Given the description of an element on the screen output the (x, y) to click on. 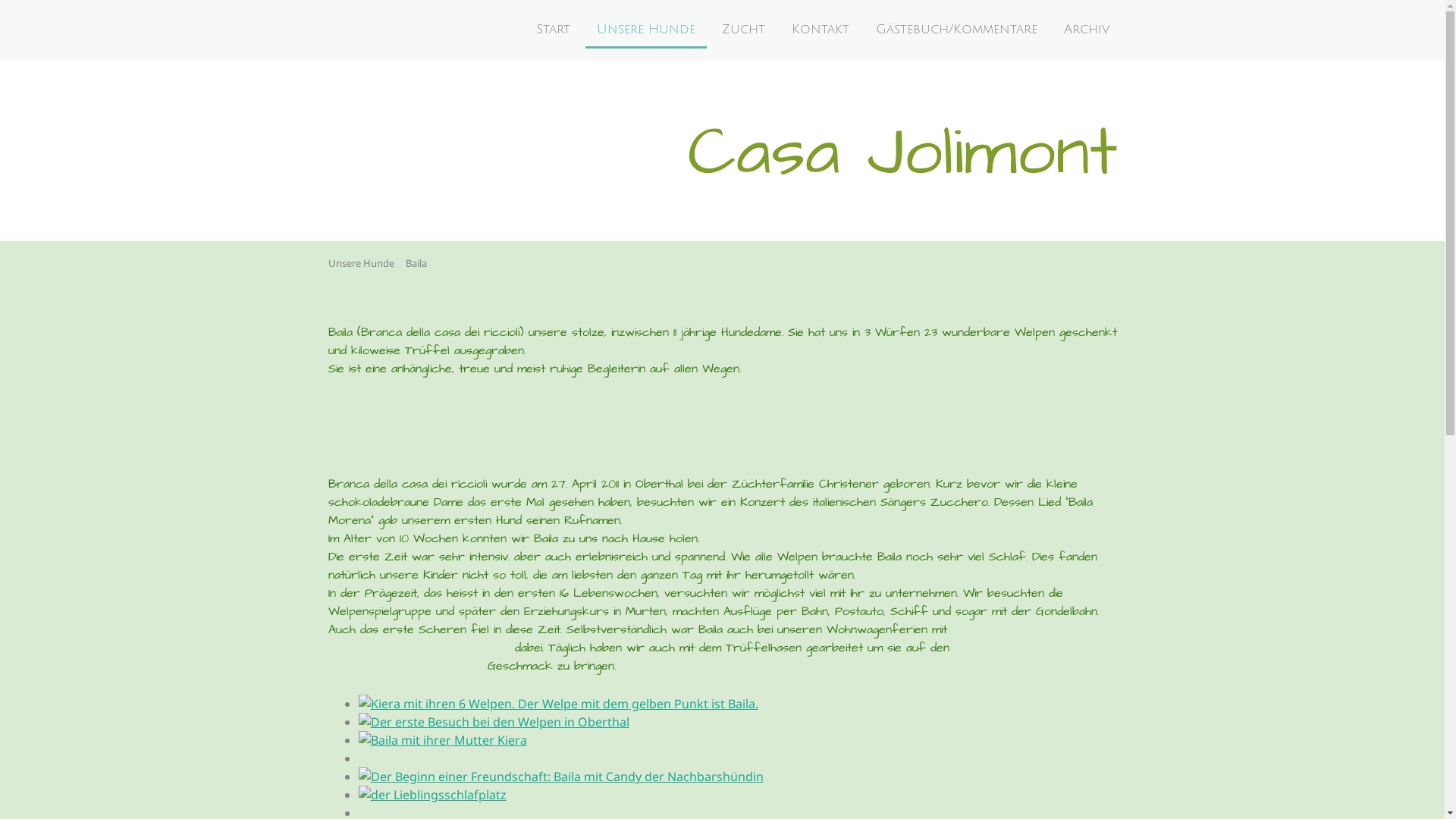
Baila Element type: text (413, 262)
Unsere Hunde Element type: text (359, 262)
Start Element type: text (552, 30)
Unsere Hunde Element type: text (645, 30)
Casa Jolimont Element type: text (901, 168)
Zucht Element type: text (742, 30)
Archiv Element type: text (1086, 30)
Kontakt Element type: text (819, 30)
